Given the description of an element on the screen output the (x, y) to click on. 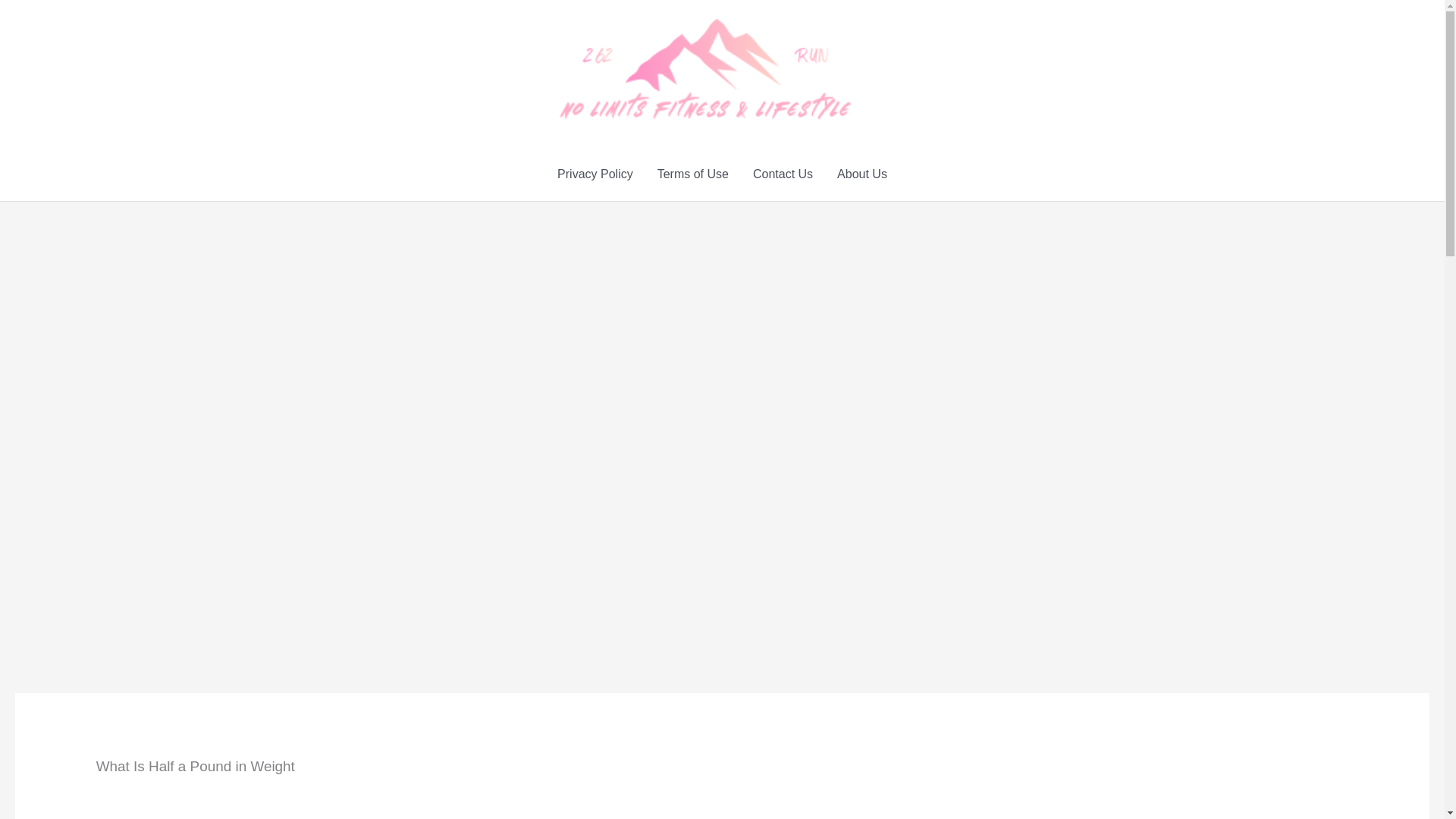
Privacy Policy (594, 174)
Terms of Use (693, 174)
262 Run (876, 68)
Contact Us (783, 174)
About Us (862, 174)
